Given the description of an element on the screen output the (x, y) to click on. 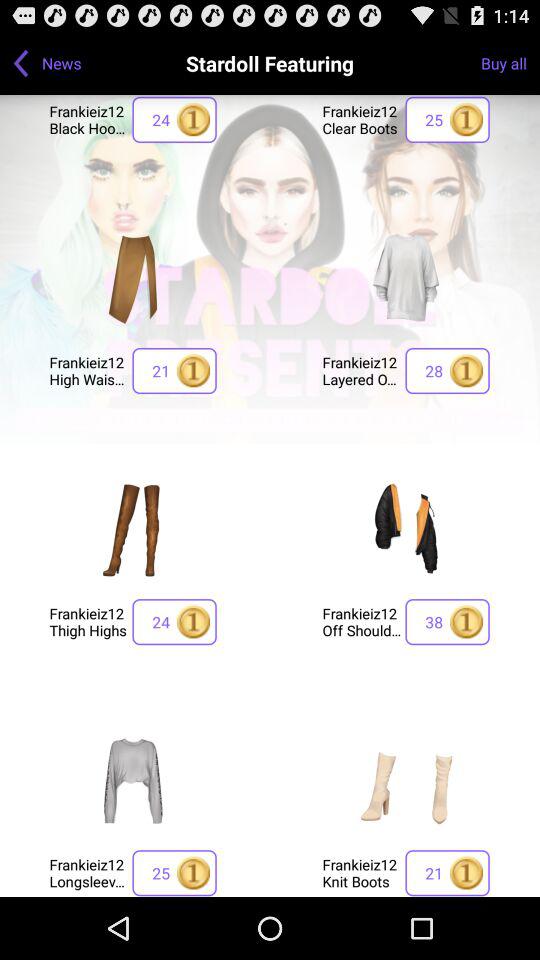
launch the button next to 21 item (88, 370)
